Given the description of an element on the screen output the (x, y) to click on. 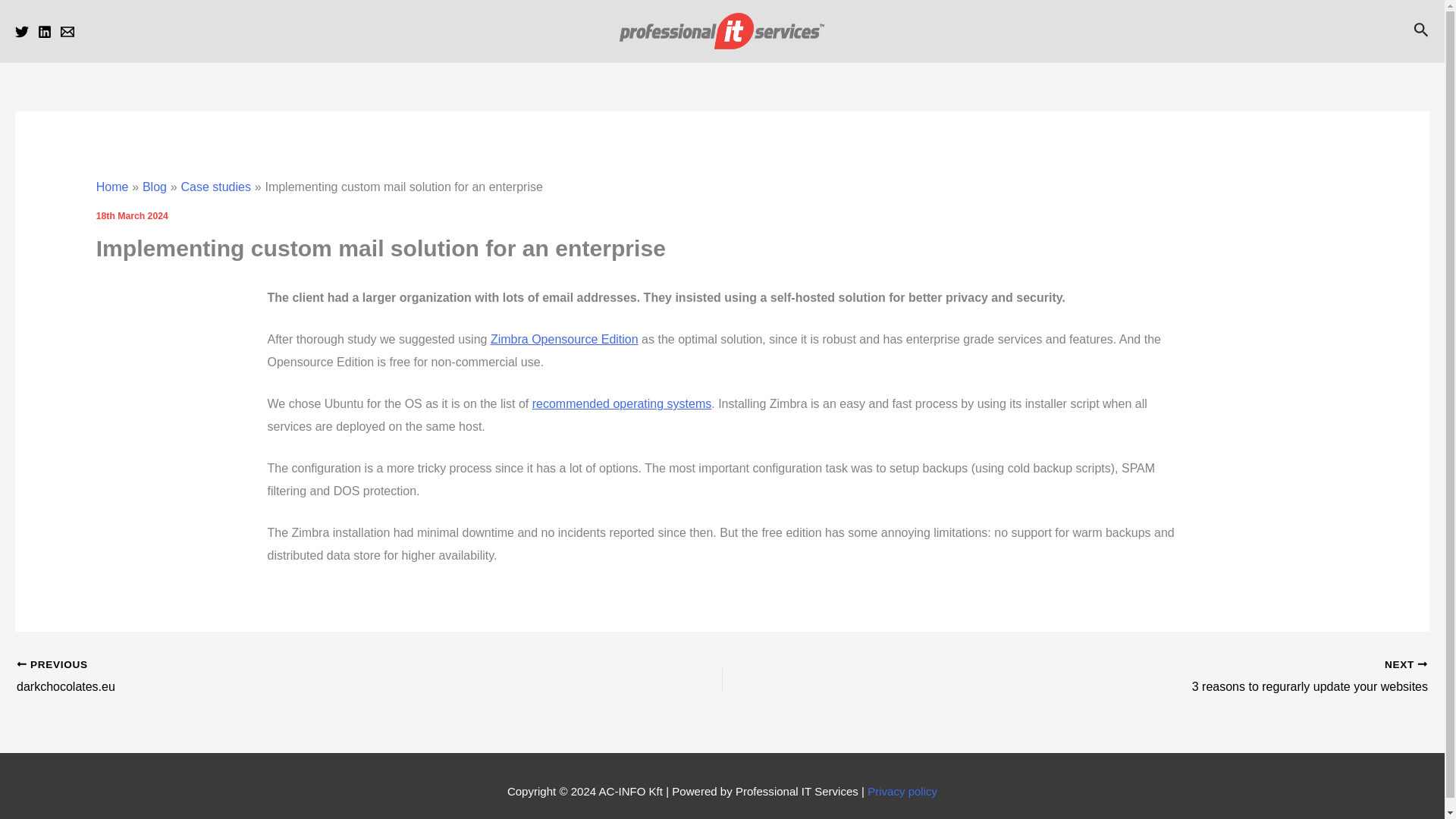
Case studies (215, 186)
3 reasons to regurarly update your websites (1144, 676)
Blog (154, 186)
Home (112, 186)
darkchocolates.eu (299, 676)
Privacy policy (902, 790)
Zimbra Opensource Edition (564, 338)
recommended operating systems (621, 403)
